Given the description of an element on the screen output the (x, y) to click on. 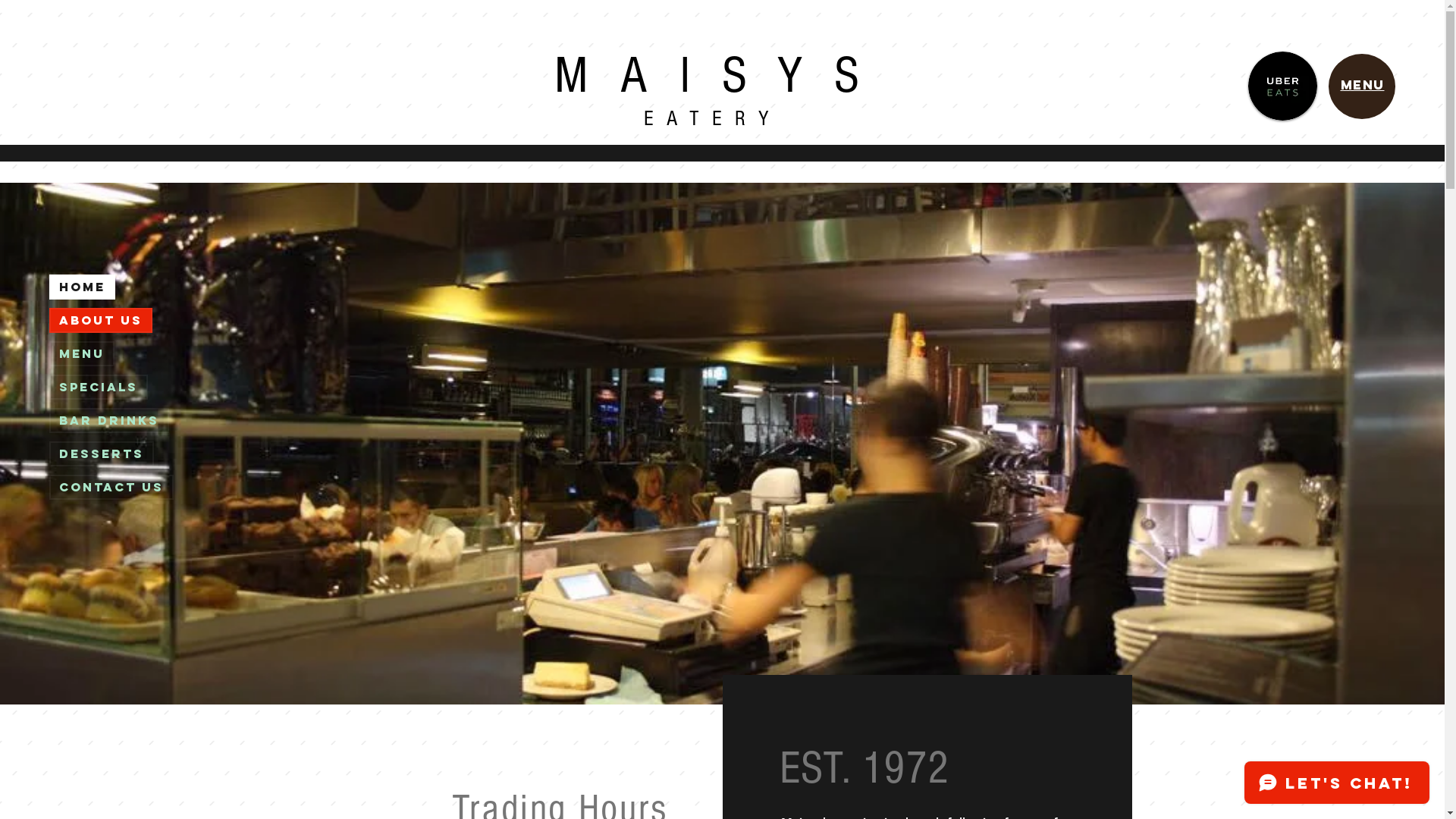
About Us Element type: text (100, 320)
Desserts Element type: text (101, 453)
Bar Drinks Element type: text (108, 420)
Contact Us Element type: text (111, 487)
MENU Element type: text (1362, 84)
Home Element type: text (81, 287)
Specials Element type: text (98, 387)
Menu Element type: text (81, 353)
